Given the description of an element on the screen output the (x, y) to click on. 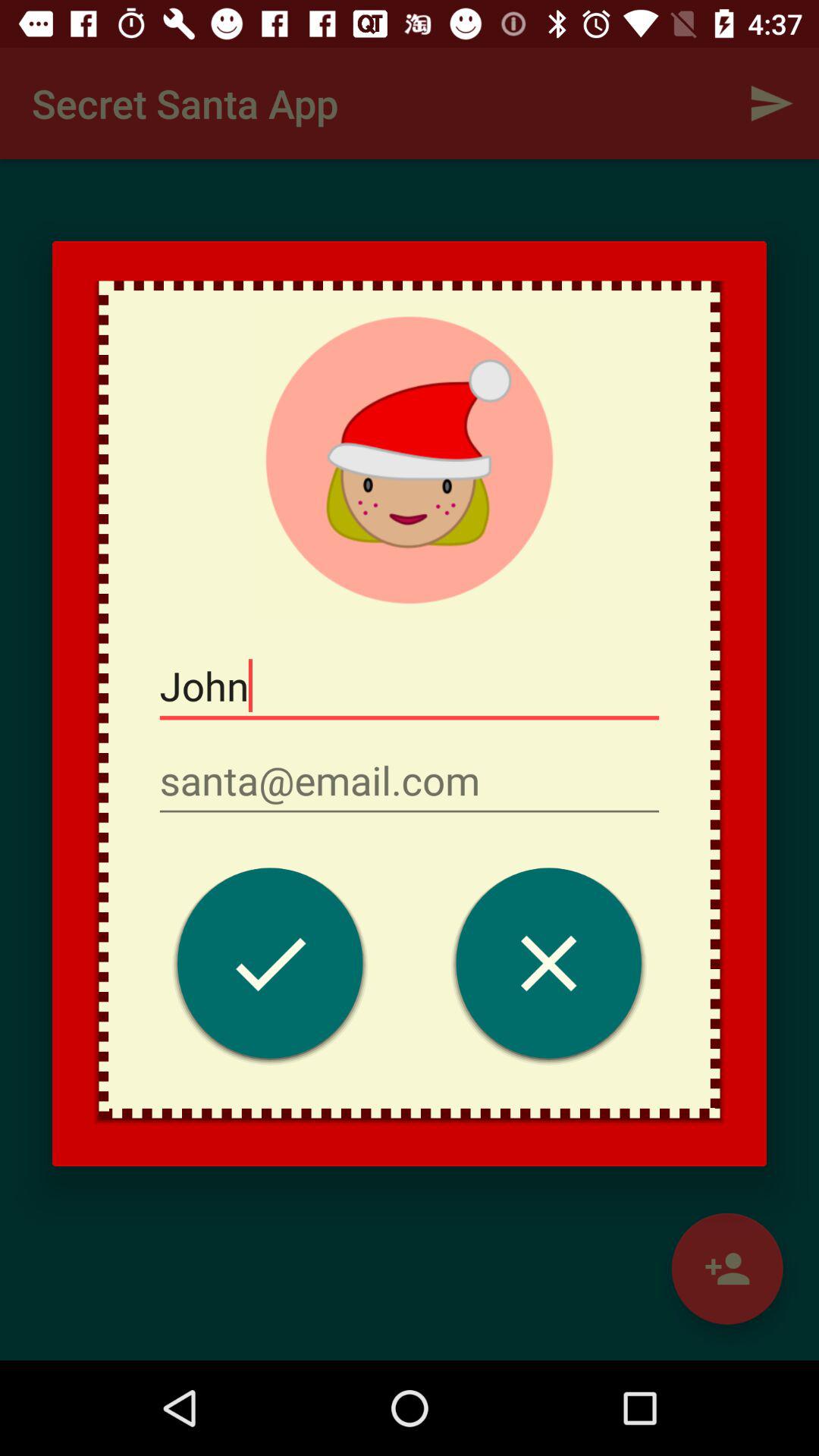
email address field (409, 780)
